Given the description of an element on the screen output the (x, y) to click on. 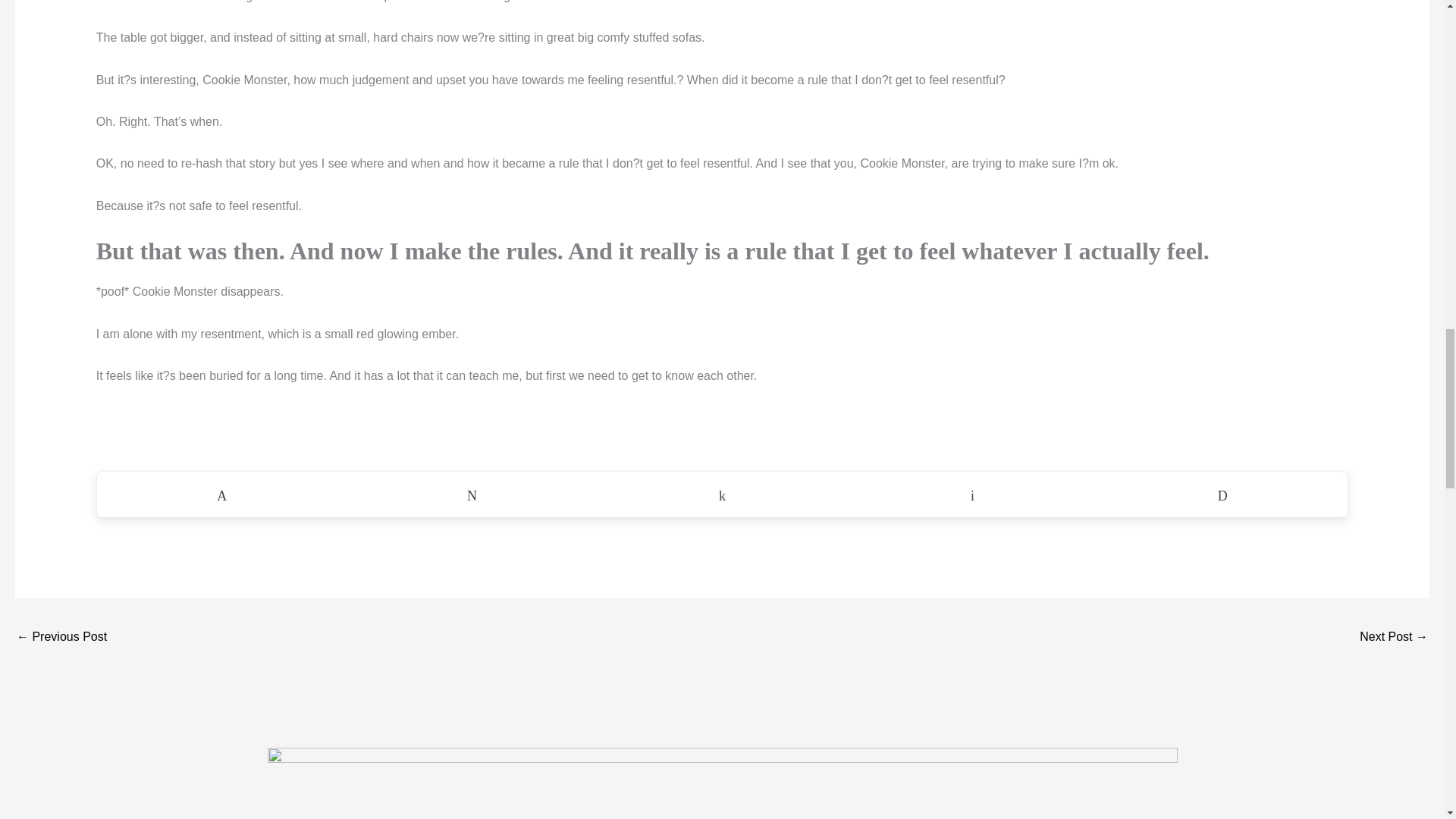
Update 37: Everything is Good (61, 637)
Update 38: I don't wanna. (1393, 637)
